Given the description of an element on the screen output the (x, y) to click on. 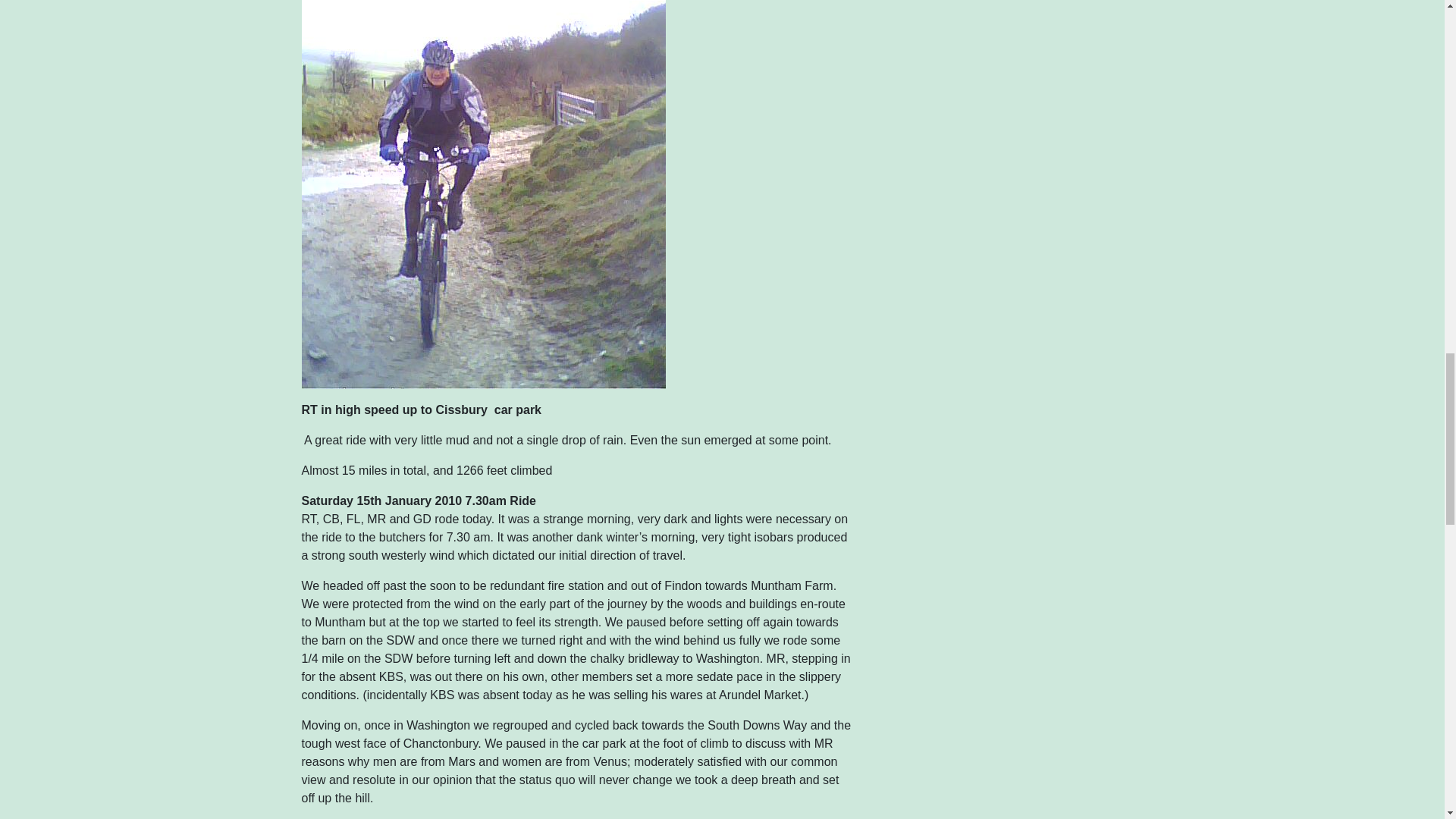
Richard (483, 144)
